Given the description of an element on the screen output the (x, y) to click on. 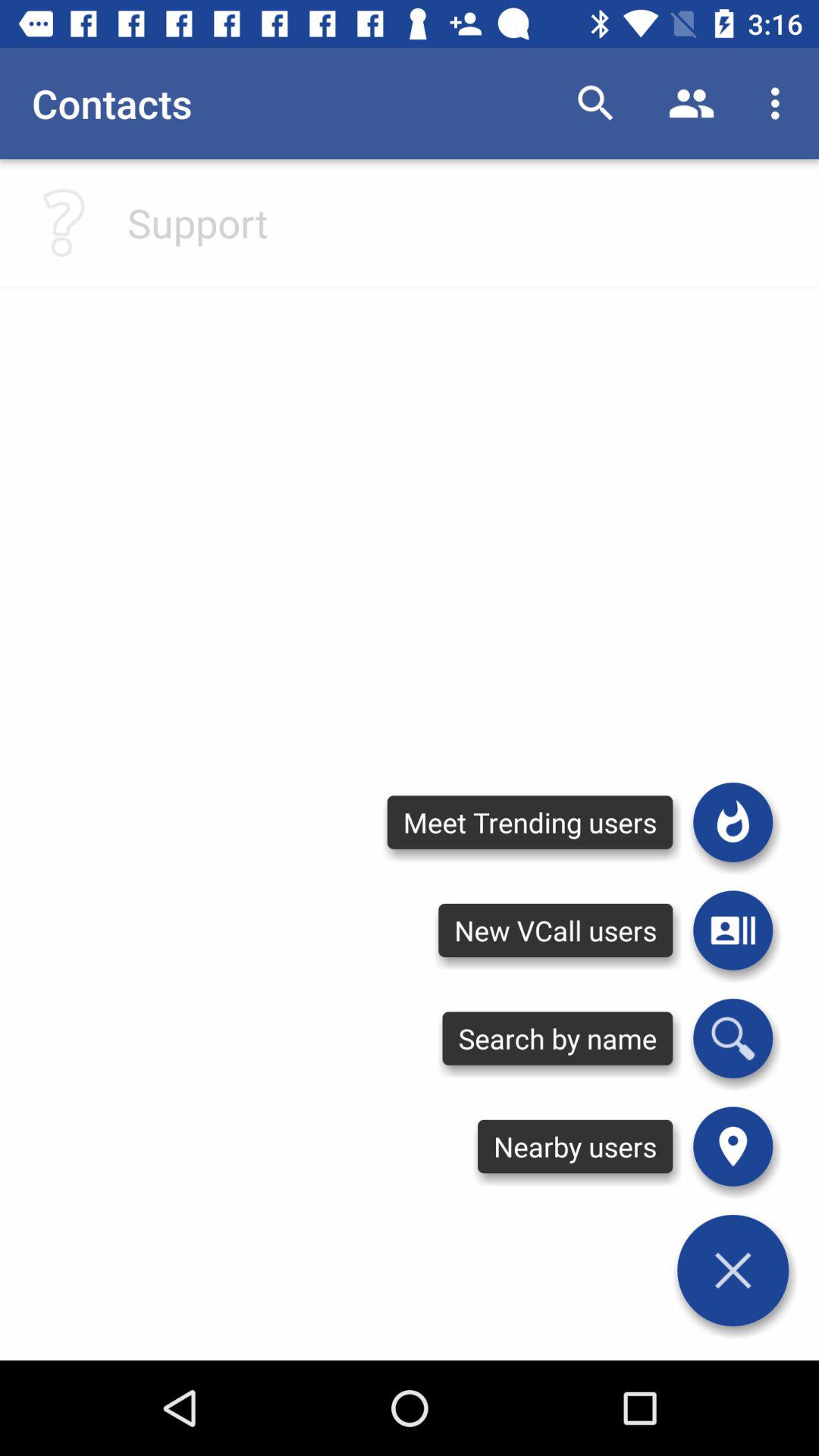
go to see users that are trending (733, 822)
